Given the description of an element on the screen output the (x, y) to click on. 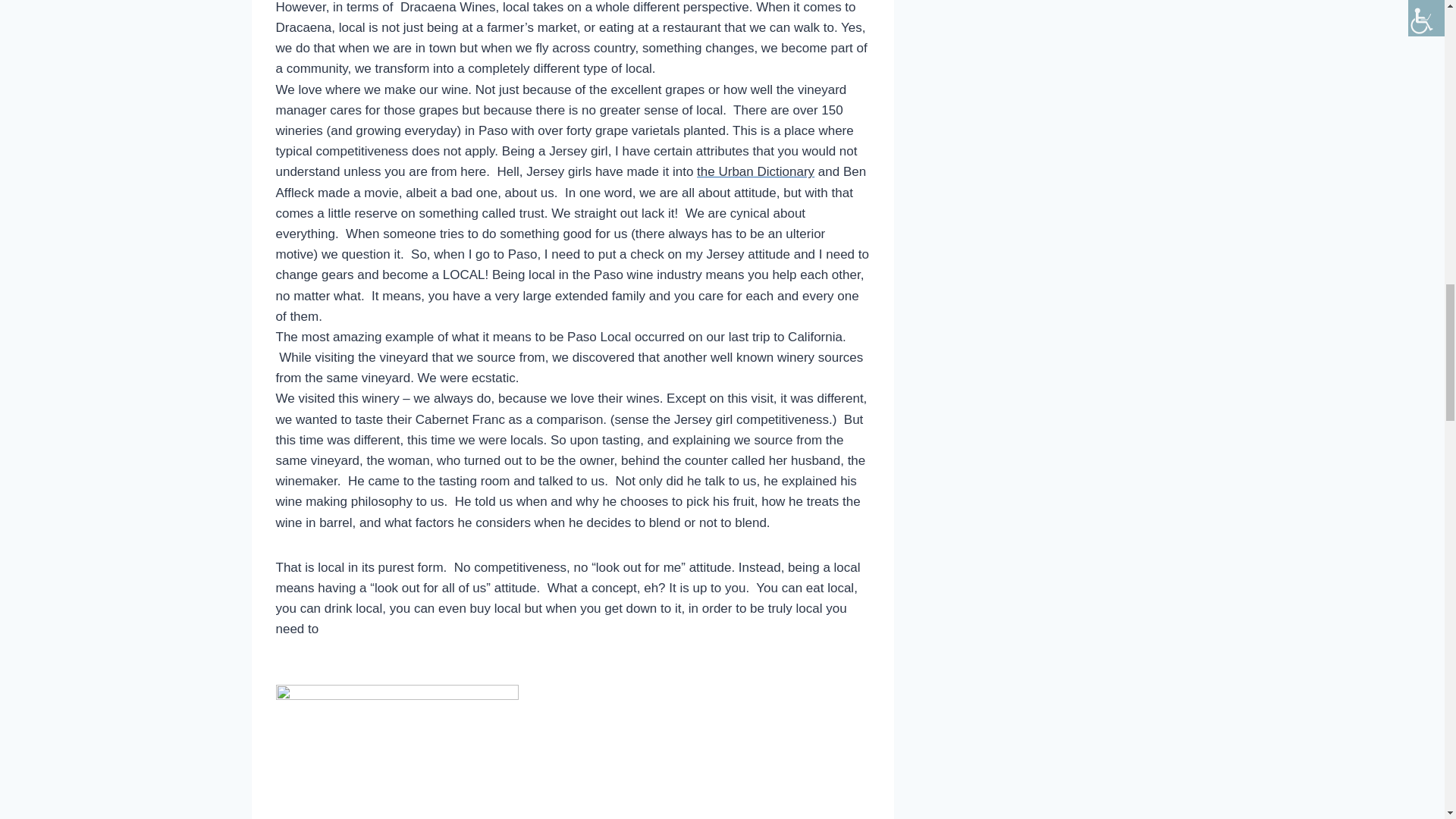
Dracaena Wines, be local, eat local, buy local  (397, 751)
